Given the description of an element on the screen output the (x, y) to click on. 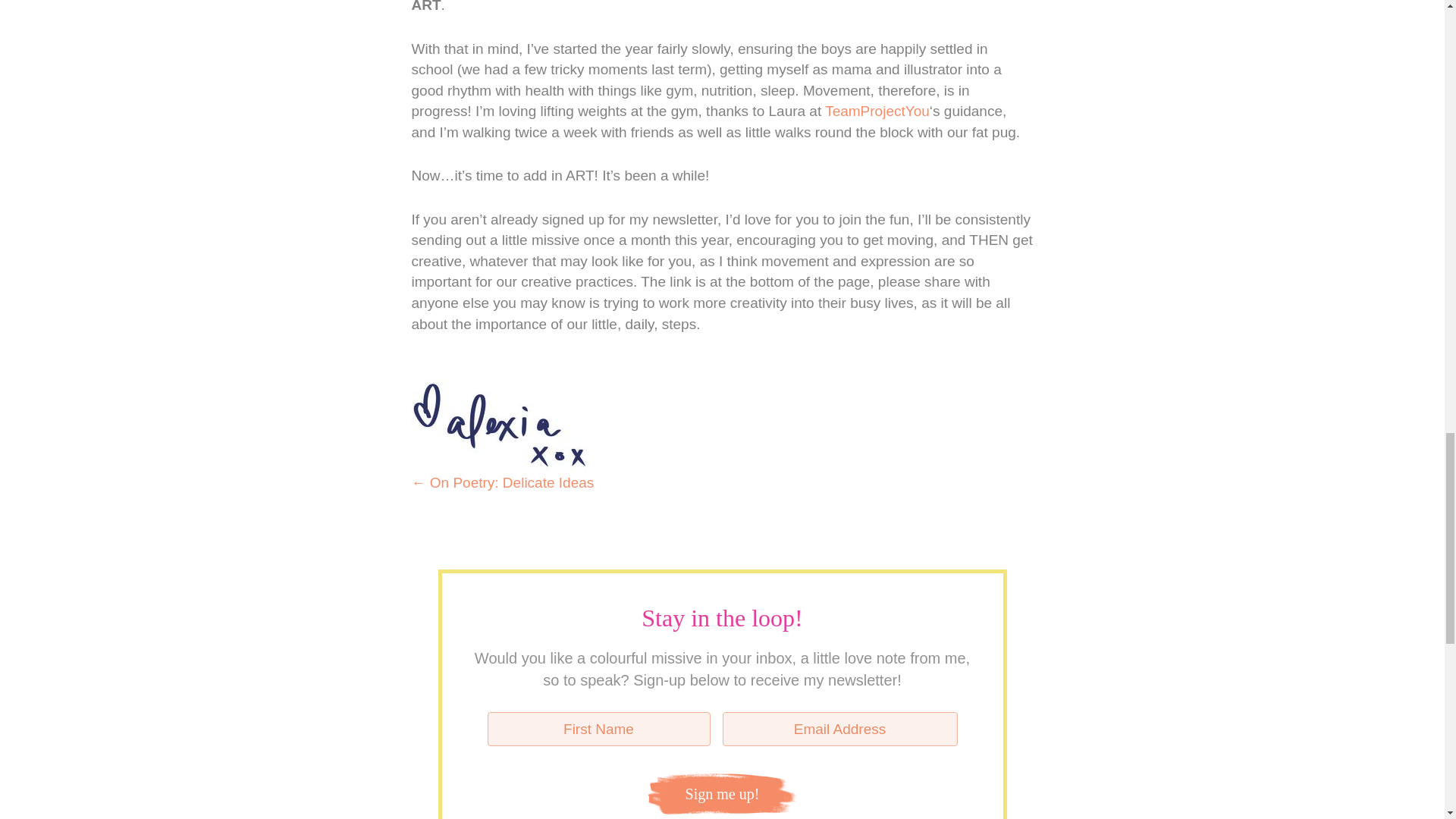
Sign me up! (721, 793)
alexia pinchbeck signature (498, 426)
